Given the description of an element on the screen output the (x, y) to click on. 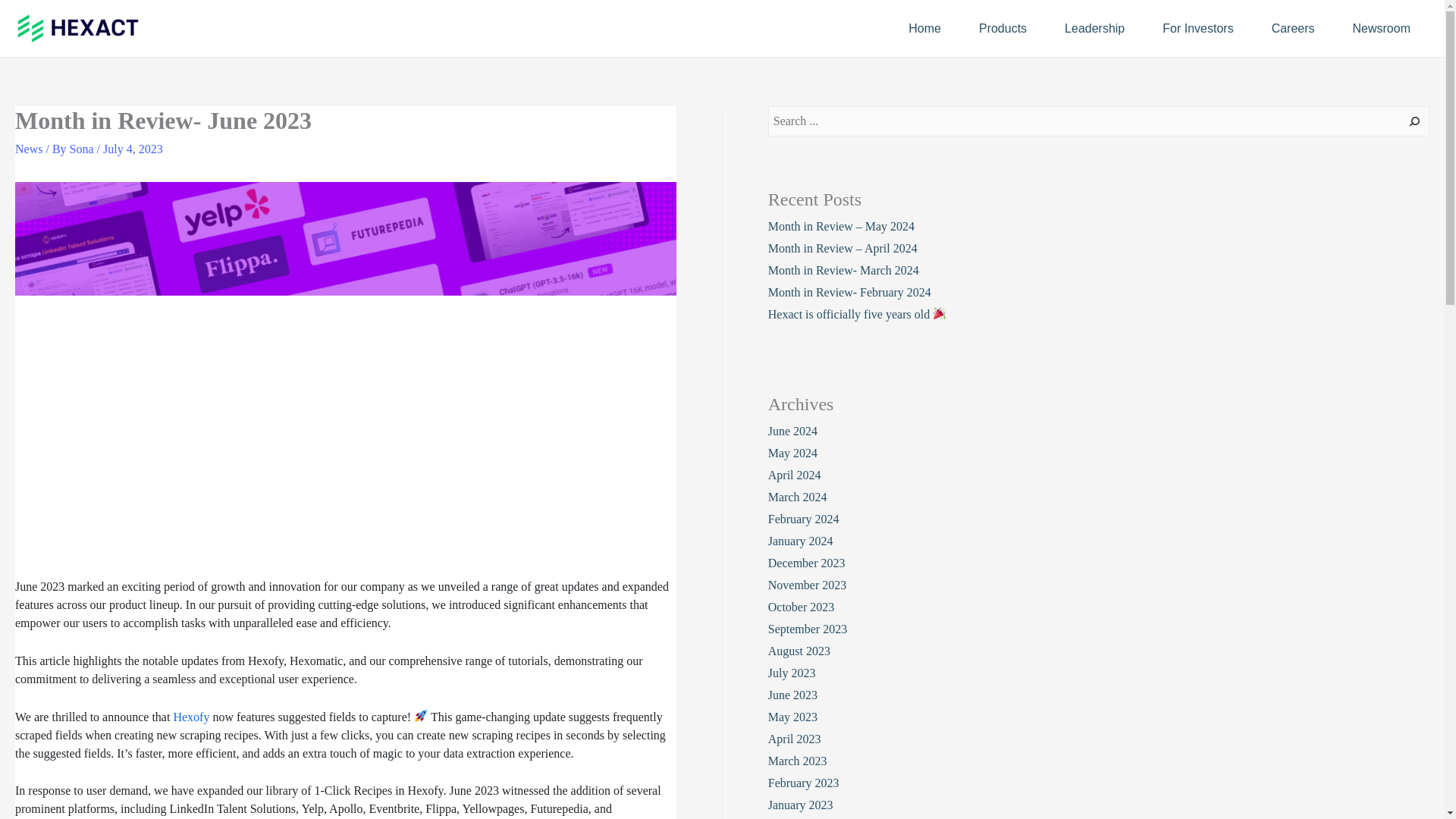
For Investors (1197, 27)
News (28, 148)
Products (1002, 27)
Sona (83, 148)
Hexofy (191, 716)
View all posts by Sona (83, 148)
Leadership (1094, 27)
Home (924, 27)
Careers (1292, 27)
Newsroom (1381, 27)
